Given the description of an element on the screen output the (x, y) to click on. 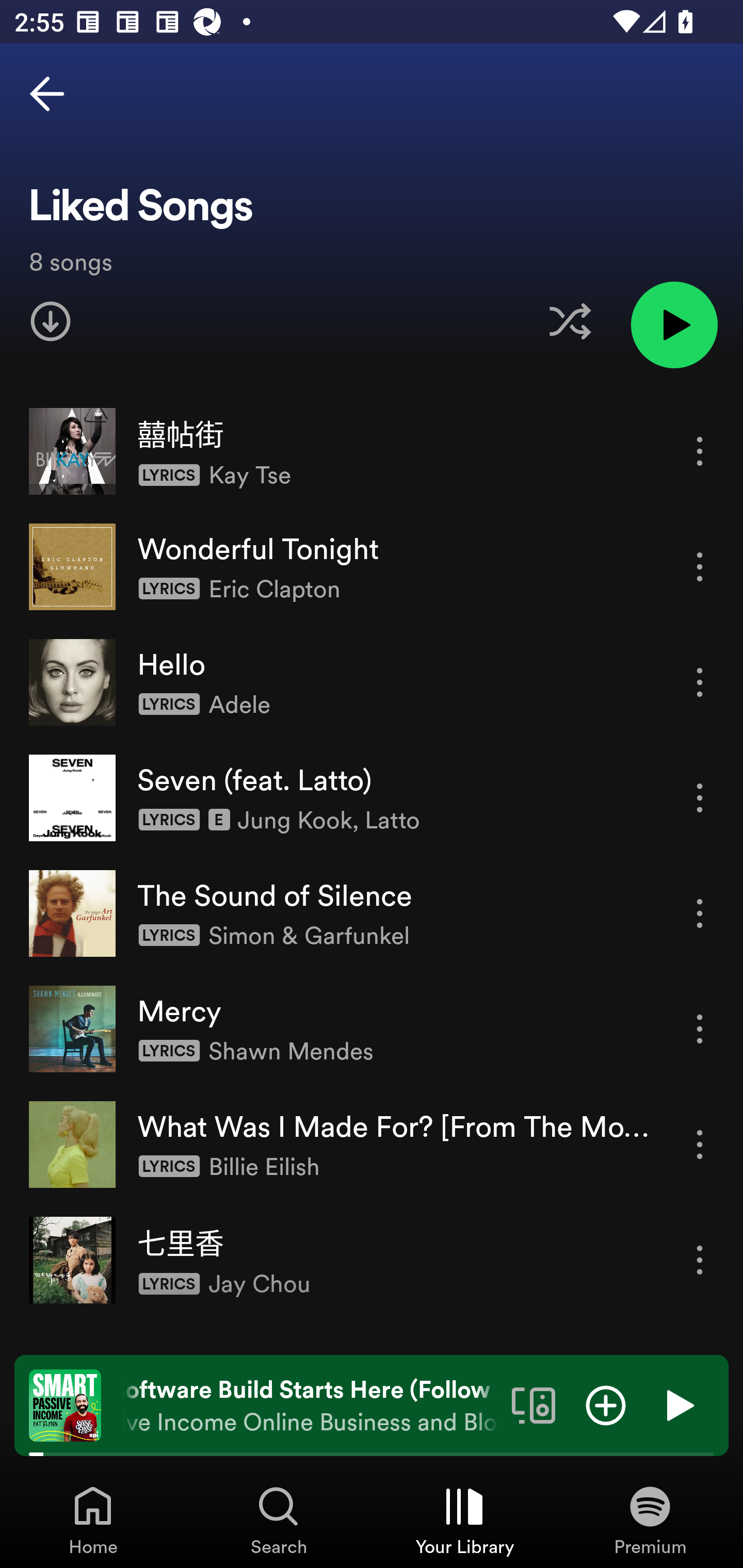
Back (46, 93)
Download (50, 321)
Enable shuffle for this liked songs (569, 321)
Play liked songs (674, 324)
囍帖街 More options for song 囍帖街 Lyrics Kay Tse (371, 451)
More options for song 囍帖街 (699, 450)
More options for song Wonderful Tonight (699, 566)
Hello More options for song Hello Lyrics Adele (371, 682)
More options for song Hello (699, 682)
More options for song Seven (feat. Latto) (699, 798)
More options for song The Sound of Silence (699, 913)
More options for song Mercy (699, 1029)
七里香 More options for song 七里香 Lyrics Jay Chou (371, 1259)
More options for song 七里香 (699, 1259)
The cover art of the currently playing track (64, 1404)
Connect to a device. Opens the devices menu (533, 1404)
Add item (605, 1404)
Play (677, 1404)
Home, Tab 1 of 4 Home Home (92, 1519)
Search, Tab 2 of 4 Search Search (278, 1519)
Your Library, Tab 3 of 4 Your Library Your Library (464, 1519)
Premium, Tab 4 of 4 Premium Premium (650, 1519)
